Given the description of an element on the screen output the (x, y) to click on. 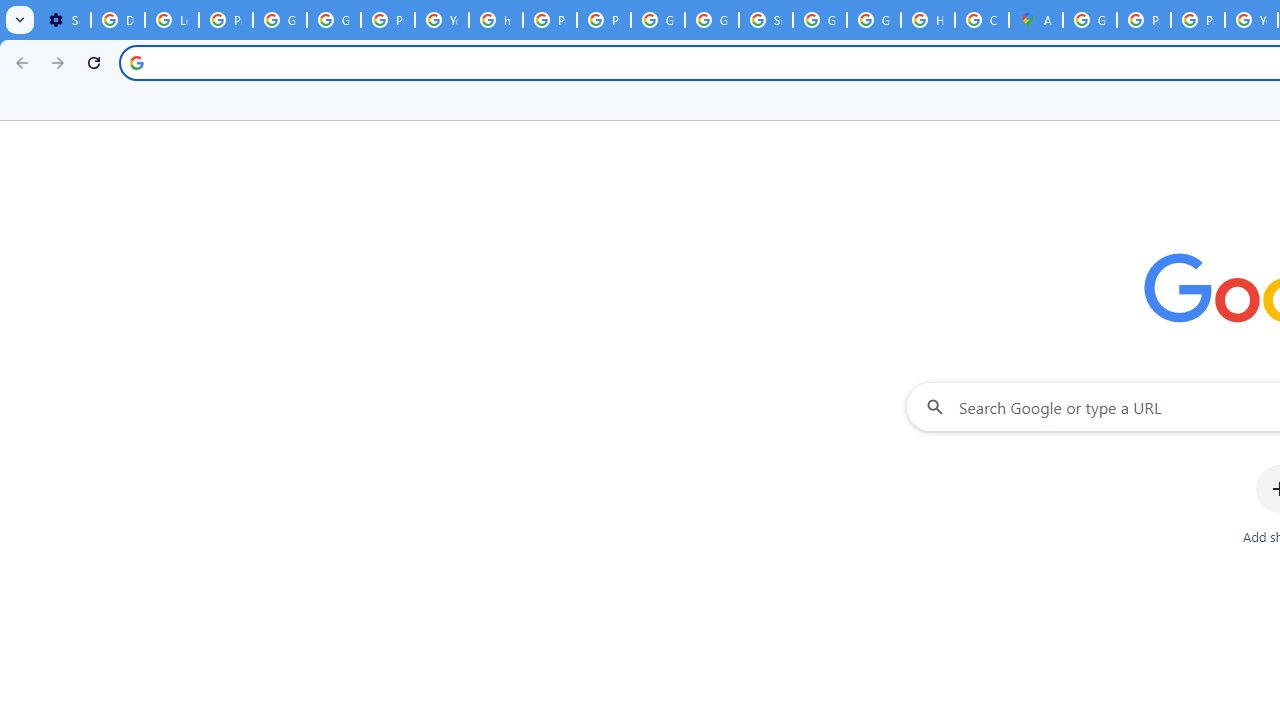
Sign in - Google Accounts (765, 20)
YouTube (441, 20)
Delete photos & videos - Computer - Google Photos Help (117, 20)
Google Account Help (280, 20)
